Given the description of an element on the screen output the (x, y) to click on. 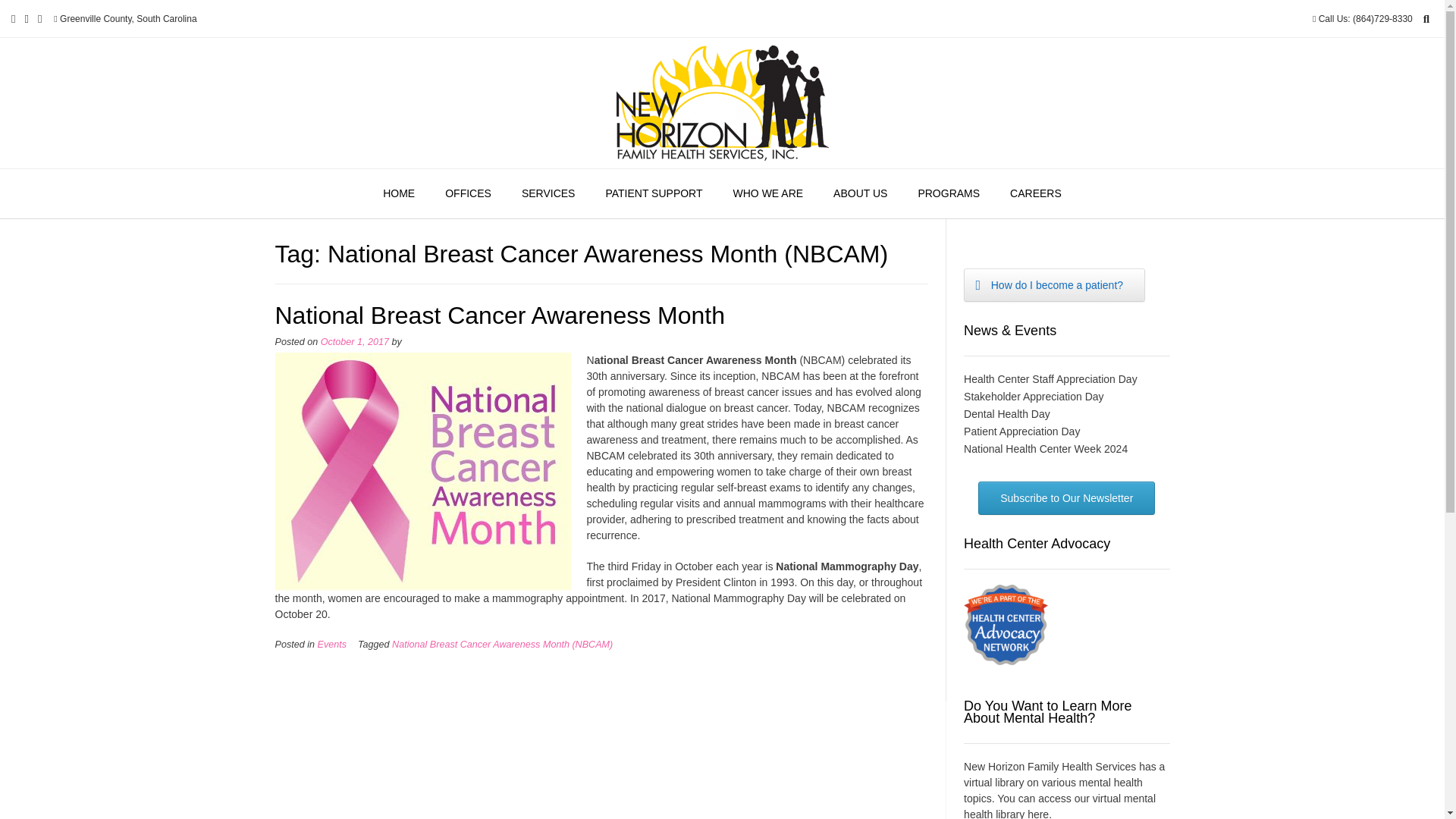
HOME (398, 193)
PATIENT SUPPORT (653, 193)
New Horizon Family Health Services (721, 102)
OFFICES (467, 193)
SERVICES (548, 193)
WHO WE ARE (767, 193)
